Given the description of an element on the screen output the (x, y) to click on. 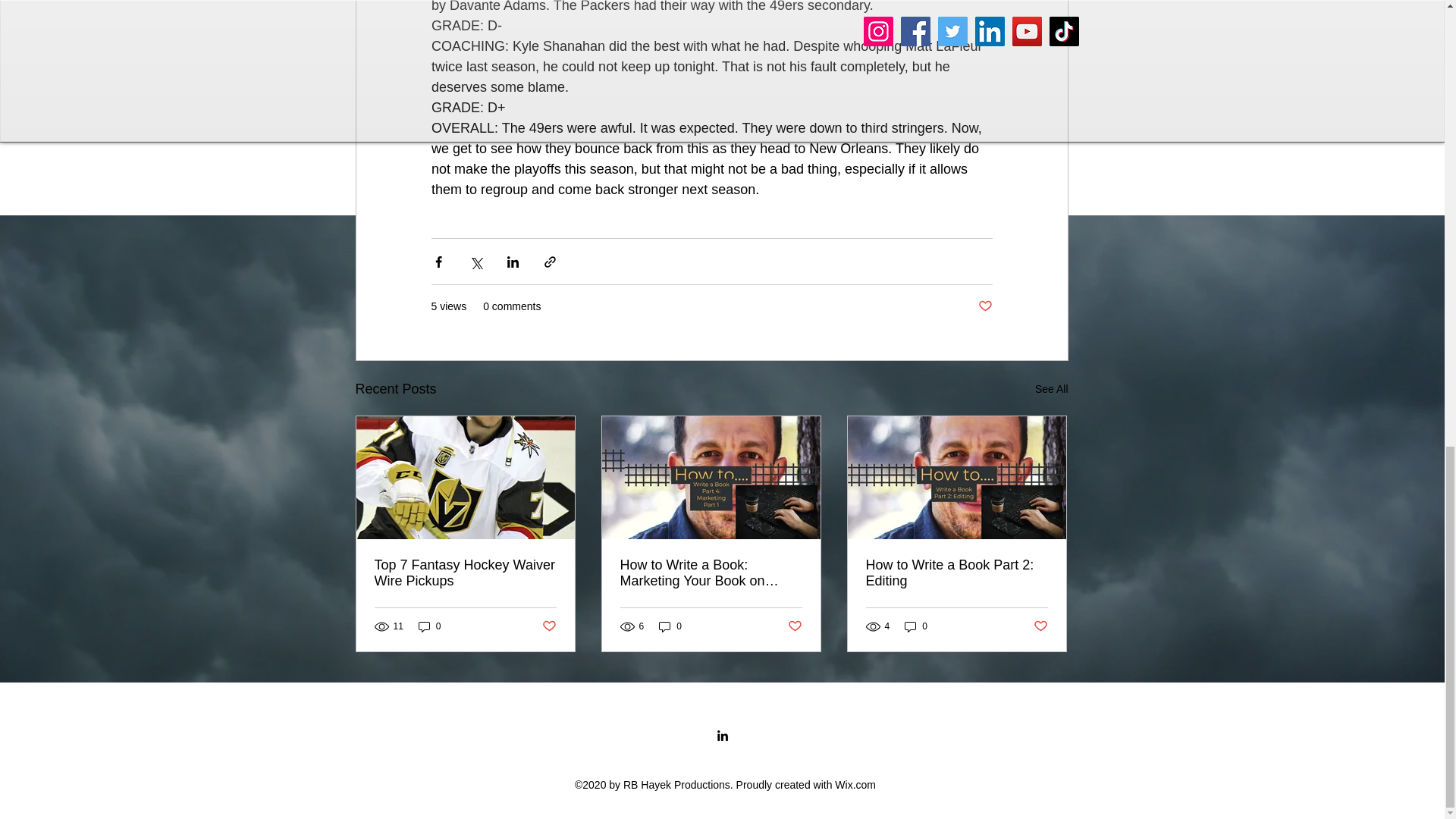
0 (429, 626)
Post not marked as liked (985, 306)
Top 7 Fantasy Hockey Waiver Wire Pickups (465, 572)
Post not marked as liked (794, 626)
See All (1051, 389)
How to Write a Book: Marketing Your Book on Social Media (711, 572)
Post not marked as liked (548, 626)
0 (670, 626)
